Given the description of an element on the screen output the (x, y) to click on. 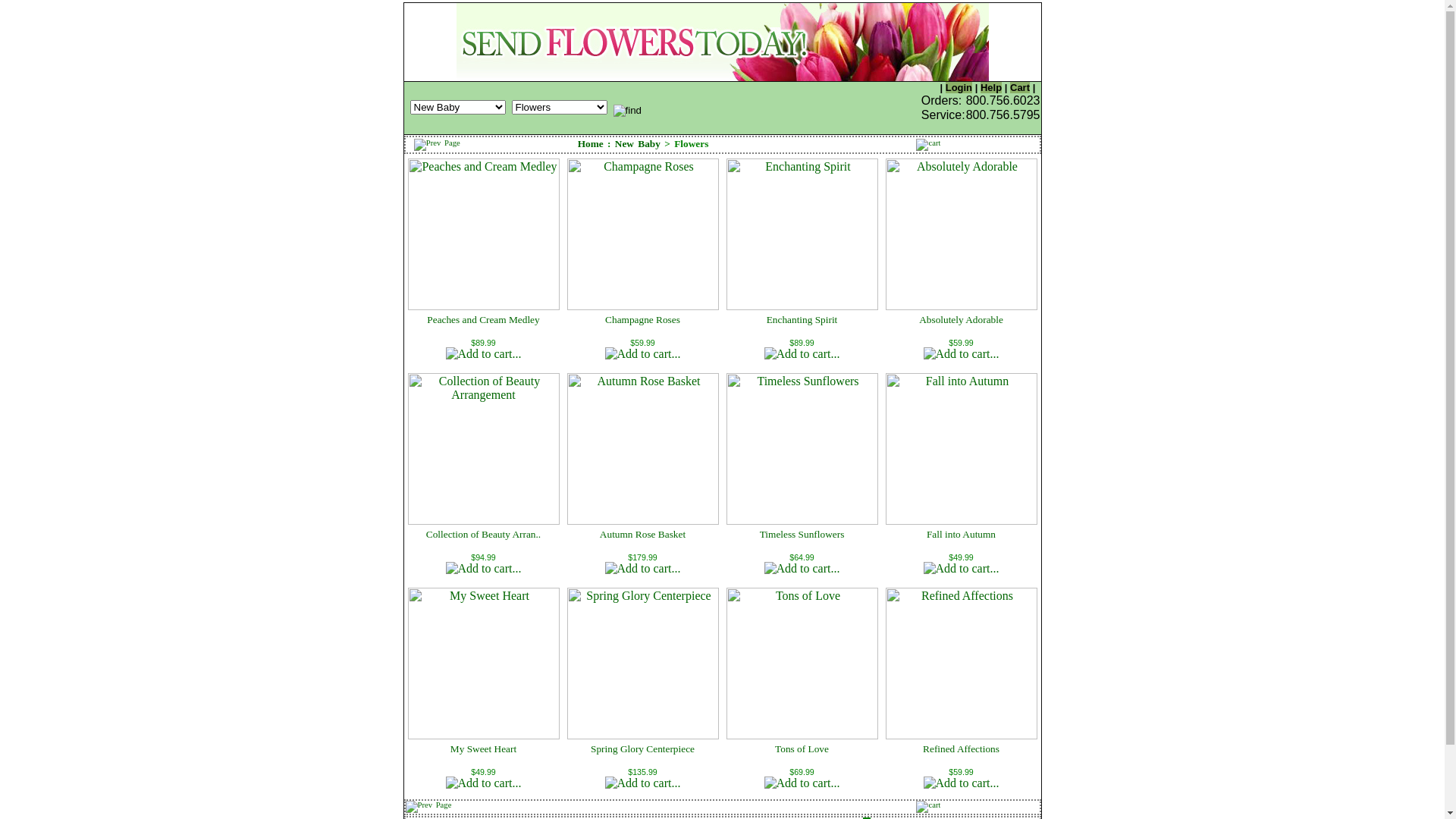
Tons of Love Element type: text (801, 748)
Help Element type: text (990, 87)
Timeless Sunflowers Element type: text (801, 533)
Absolutely Adorable Element type: text (961, 319)
New Baby Element type: text (637, 143)
Collection of Beauty Arran.. Element type: text (483, 533)
My Sweet Heart Element type: text (483, 748)
Autumn Rose Basket Element type: text (642, 533)
Cart Element type: text (1019, 87)
Refined Affections Element type: text (960, 748)
Fall into Autumn Element type: text (960, 533)
Home Element type: text (590, 143)
Enchanting Spirit Element type: text (801, 319)
Champagne Roses Element type: text (642, 319)
Spring Glory Centerpiece Element type: text (642, 748)
Peaches and Cream Medley Element type: text (482, 319)
Login Element type: text (958, 87)
